Given the description of an element on the screen output the (x, y) to click on. 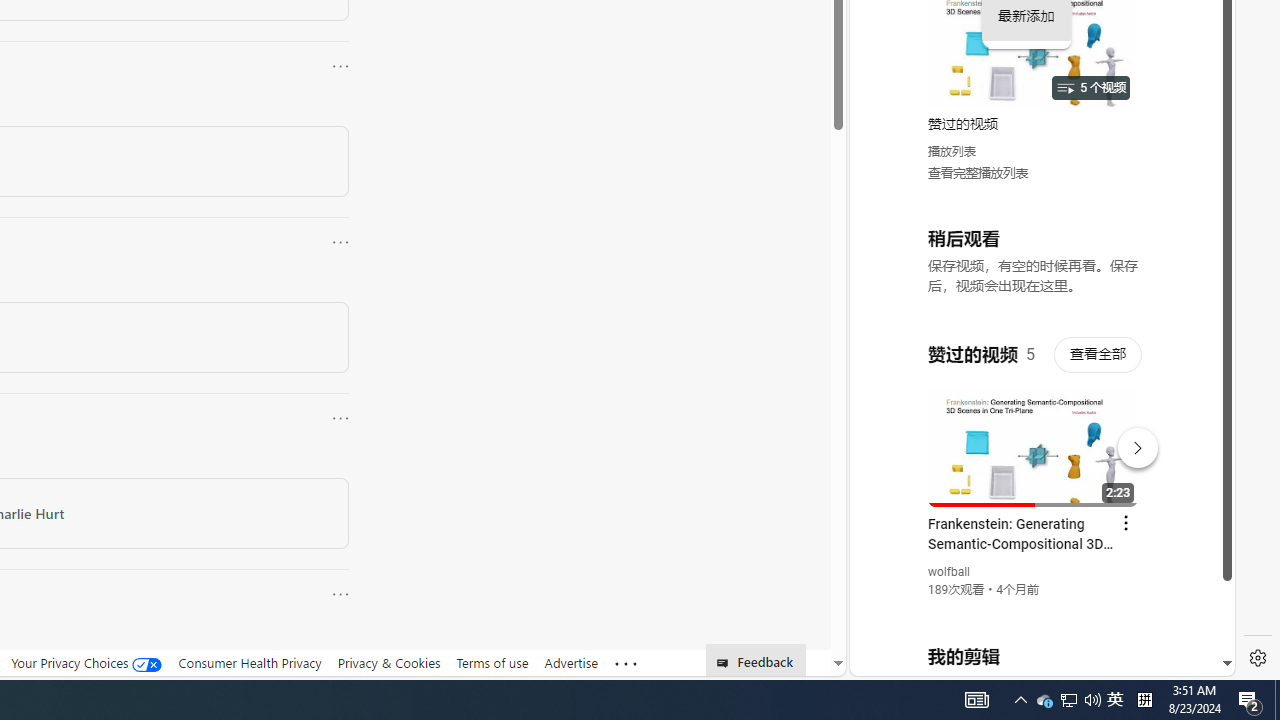
YouTube - YouTube (1034, 266)
Class: feedback_link_icon-DS-EntryPoint1-1 (726, 663)
Class: oneFooter_seeMore-DS-EntryPoint1-1 (625, 663)
